Given the description of an element on the screen output the (x, y) to click on. 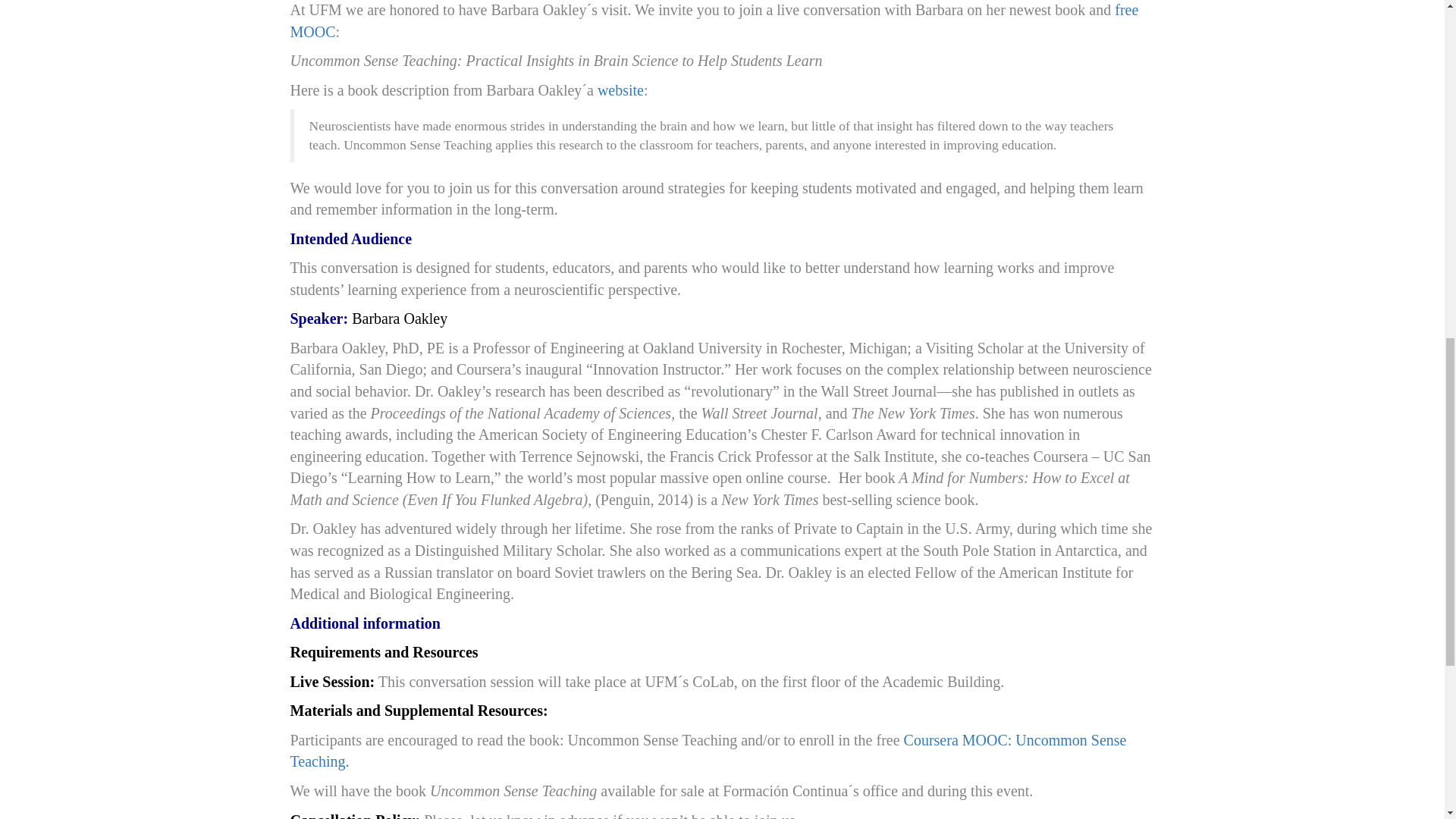
Coursera MOOC: Uncommon Sense Teaching.  (707, 751)
free MOOC (713, 20)
website (619, 89)
